Given the description of an element on the screen output the (x, y) to click on. 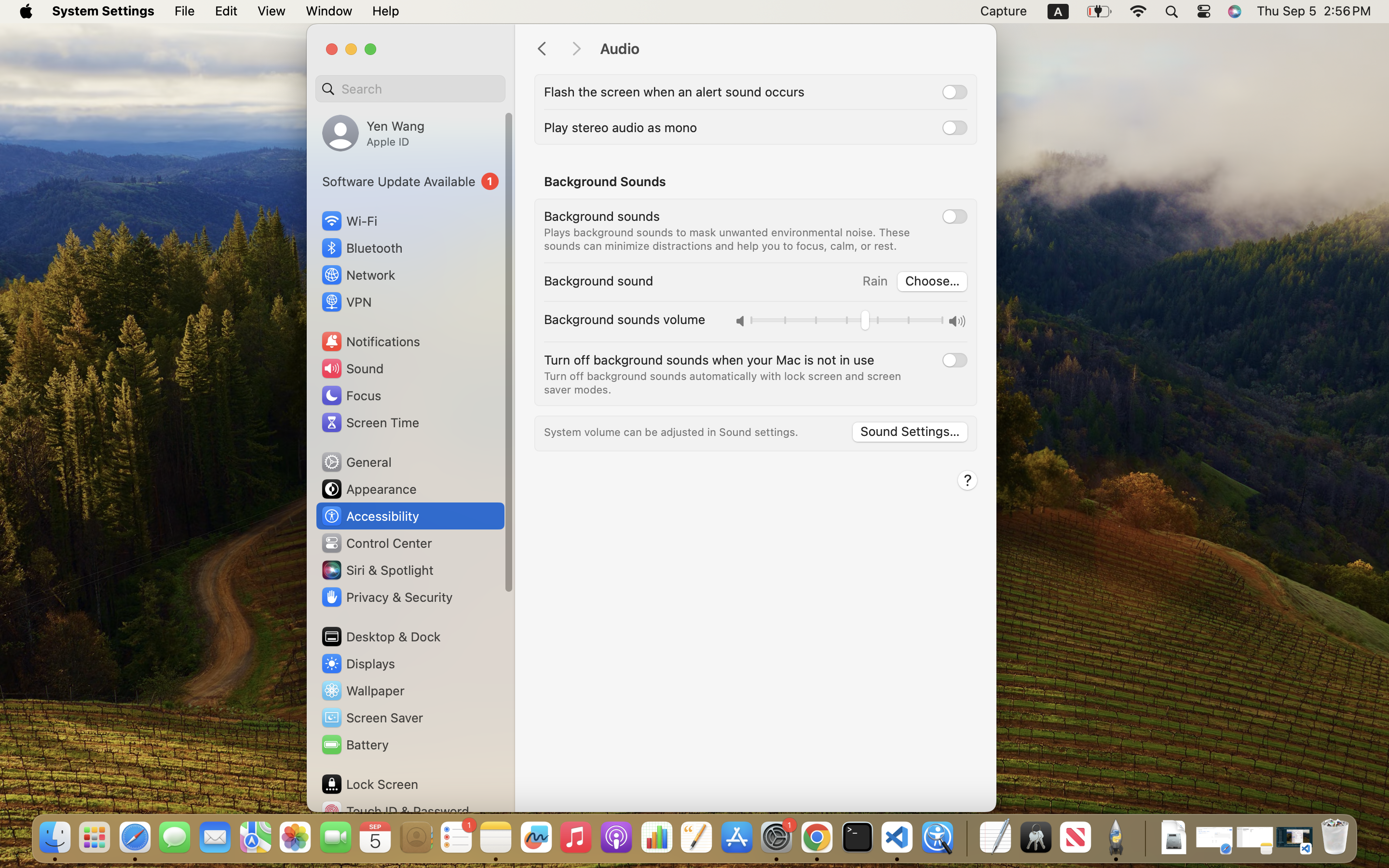
Rain Element type: AXStaticText (874, 280)
Turn off background sounds when your Mac is not in use Element type: AXStaticText (708, 359)
Yen Wang, Apple ID Element type: AXStaticText (373, 132)
Turn off background sounds automatically with lock screen and screen saver modes. Element type: AXStaticText (723, 382)
0.4285714328289032 Element type: AXDockItem (965, 837)
